Given the description of an element on the screen output the (x, y) to click on. 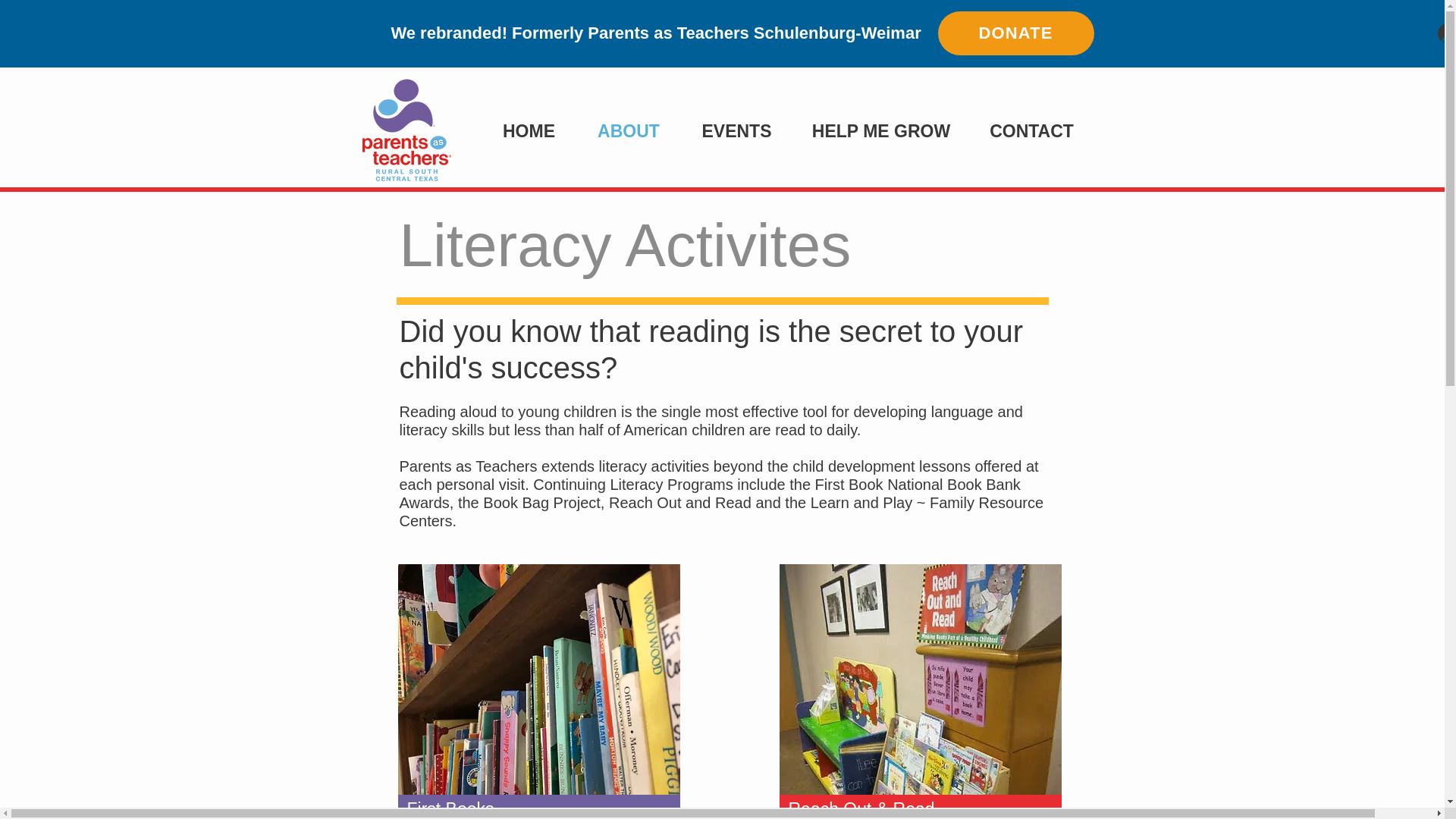
DONATE (1015, 33)
HELP ME GROW (881, 131)
EVENTS (737, 131)
CONTACT (1031, 131)
Log In (1441, 32)
HOME (528, 131)
ABOUT (627, 131)
